Given the description of an element on the screen output the (x, y) to click on. 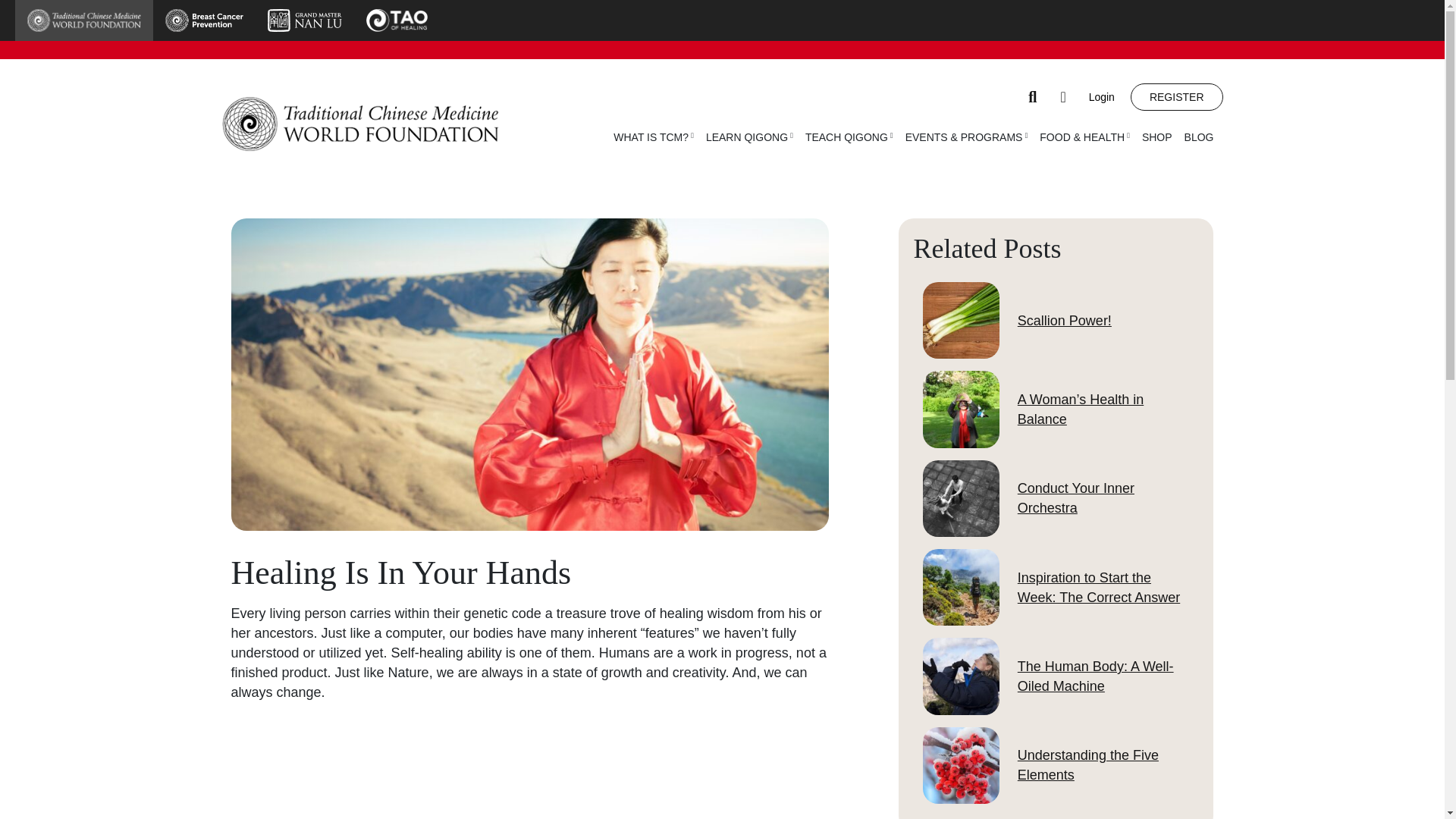
REGISTER (1177, 96)
Cart (1063, 96)
Register (1177, 96)
Cart (1063, 96)
TEACH QIGONG (849, 136)
Learn Qigong (749, 136)
What Is TCM? (653, 136)
LEARN QIGONG (749, 136)
Login (1107, 96)
WHAT IS TCM? (653, 136)
Login (1107, 96)
Search (1032, 96)
Search (1032, 96)
